Given the description of an element on the screen output the (x, y) to click on. 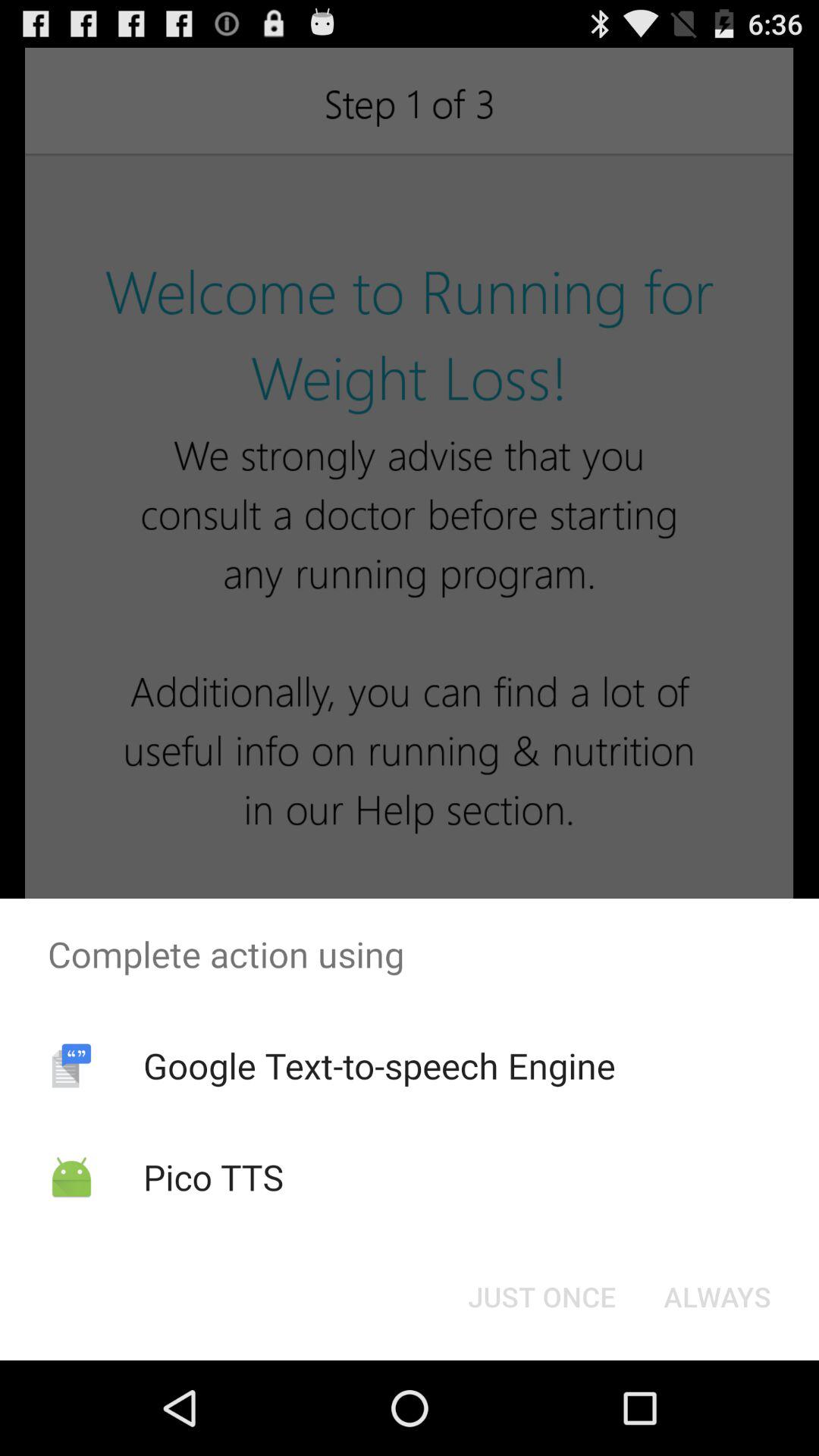
open item below the complete action using (379, 1065)
